Given the description of an element on the screen output the (x, y) to click on. 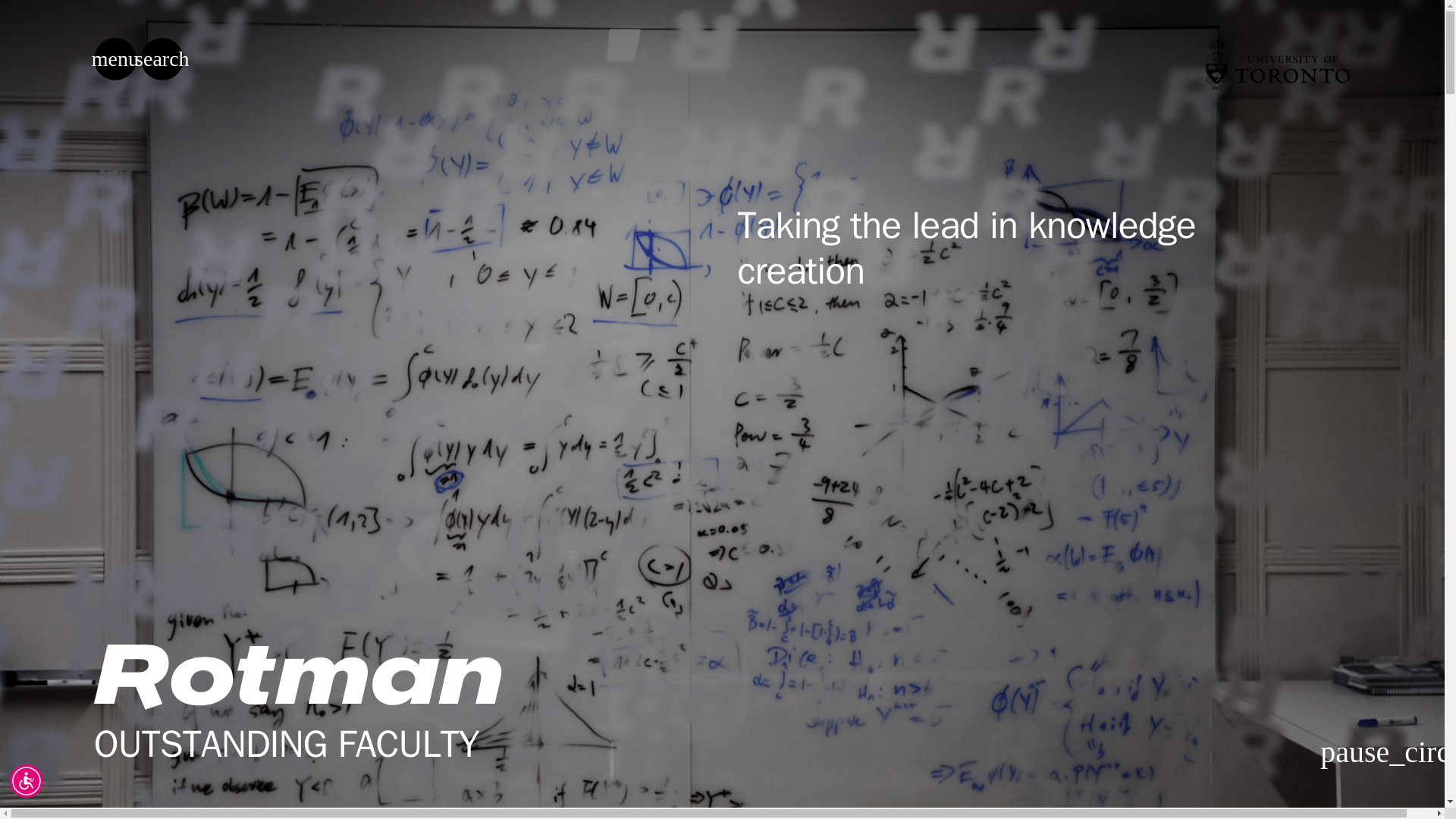
search (162, 58)
menu (115, 58)
Accessibility Menu (26, 780)
